Given the description of an element on the screen output the (x, y) to click on. 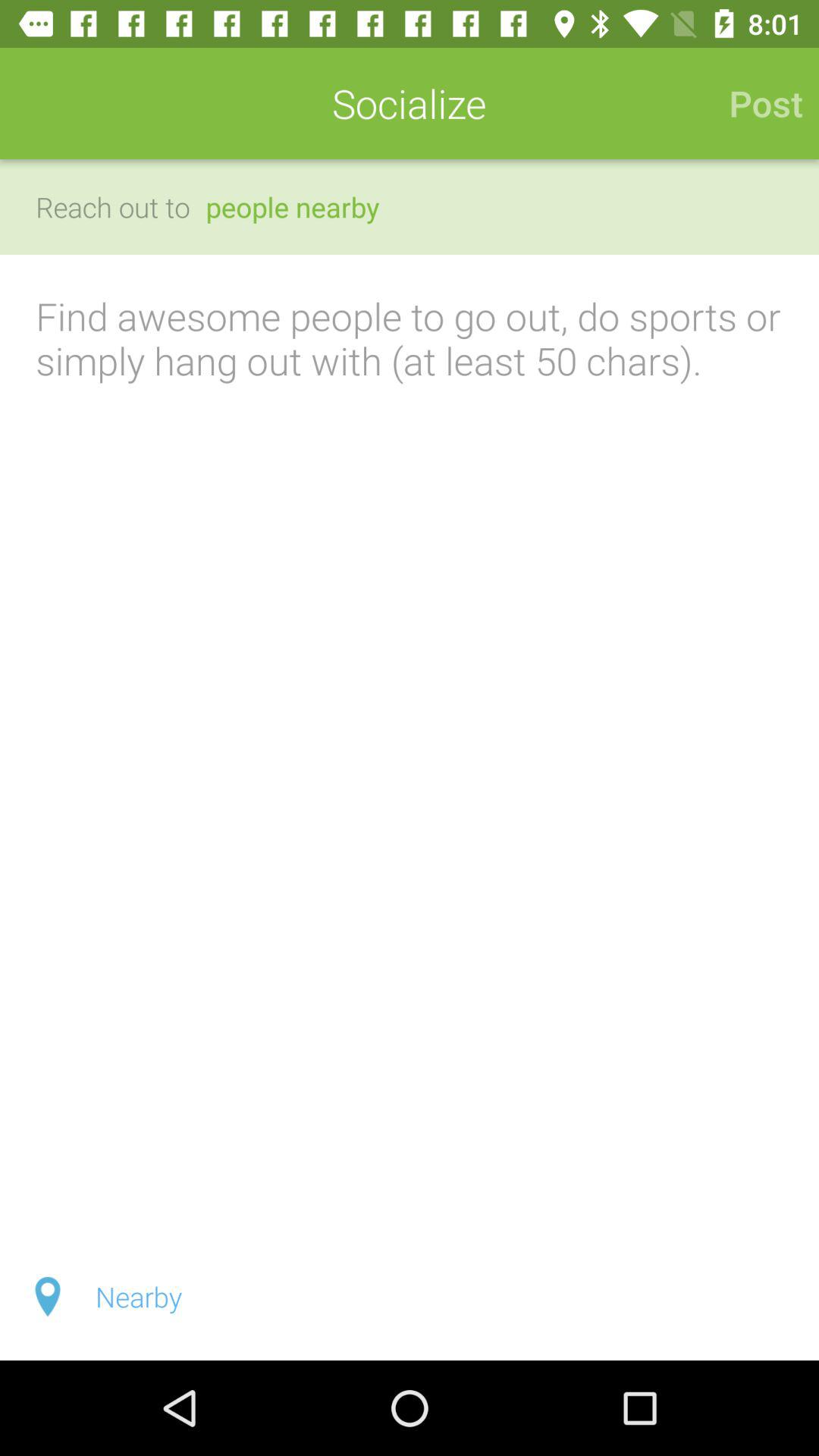
select icon next to socialize icon (758, 103)
